Given the description of an element on the screen output the (x, y) to click on. 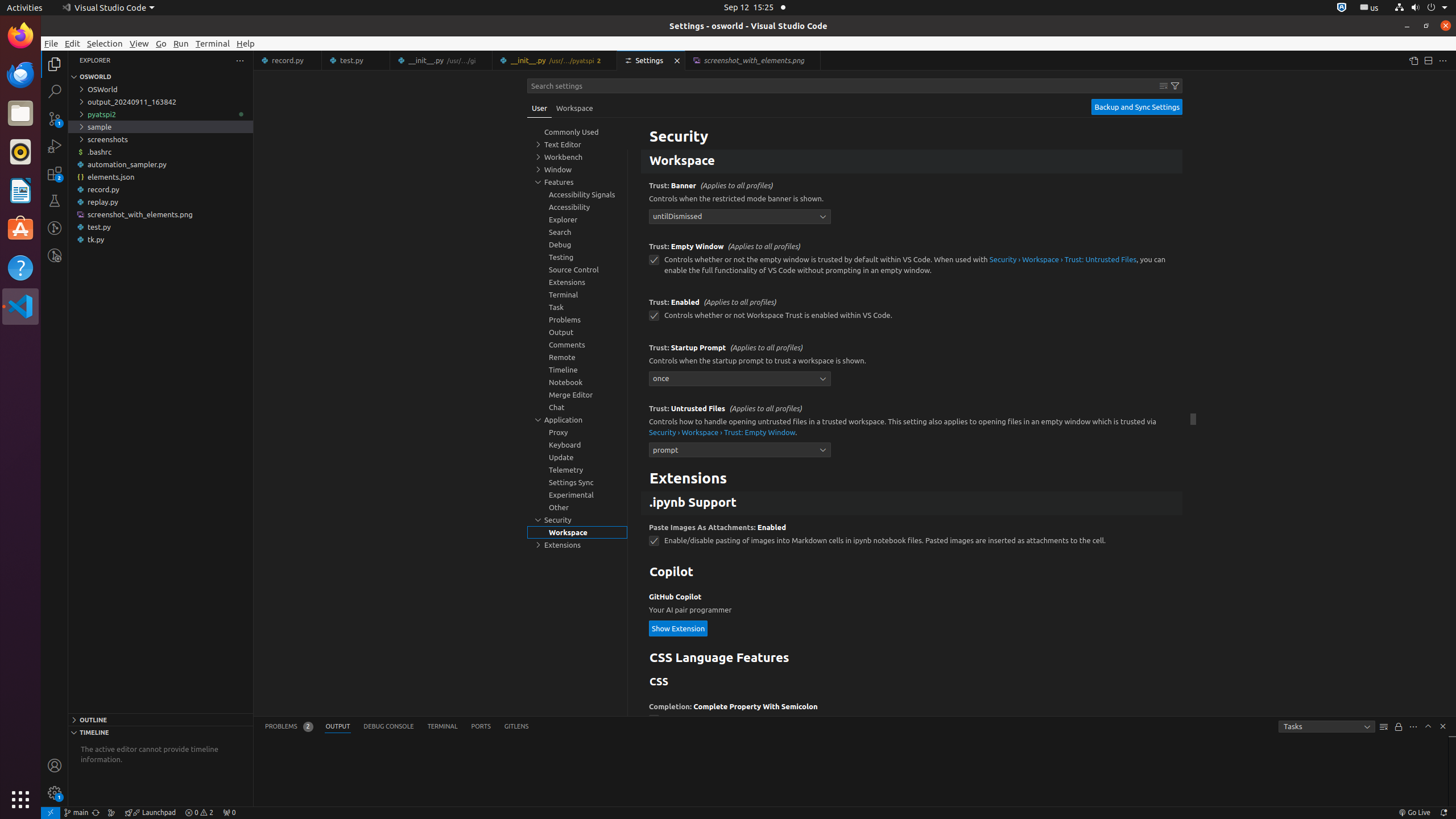
Manage - New Code update available. Element type: push-button (54, 792)
output_20240911_163842 Element type: tree-item (160, 101)
security.promptForRemoteFileProtocolHandling Element type: check-box (653, 129)
css.completion.completePropertyWithSemicolon Element type: check-box (653, 719)
User Element type: check-box (539, 107)
